Given the description of an element on the screen output the (x, y) to click on. 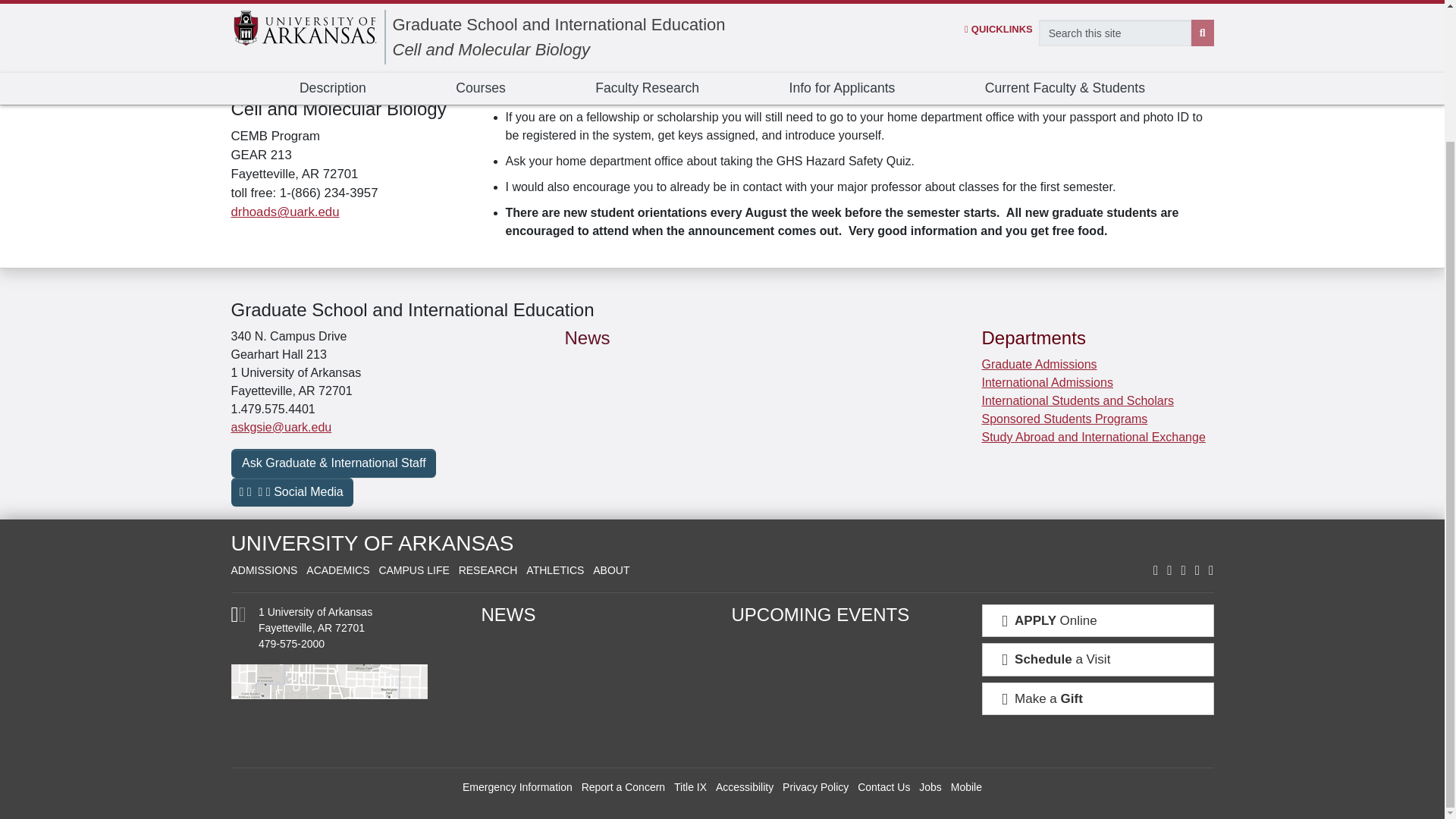
University of Arkansas Research (488, 570)
View Campus Maps (238, 617)
About the University of Arkansas (610, 570)
Paperwork for Admitted Students (339, 49)
Sponsoring an Applicant (339, 16)
University of Arkansas Home Page (371, 543)
University of Arkansas Athletics (554, 570)
University of Arkansas Academics (337, 570)
View Campus Maps (346, 709)
Campus Life at the University of Arkansas (413, 570)
